Given the description of an element on the screen output the (x, y) to click on. 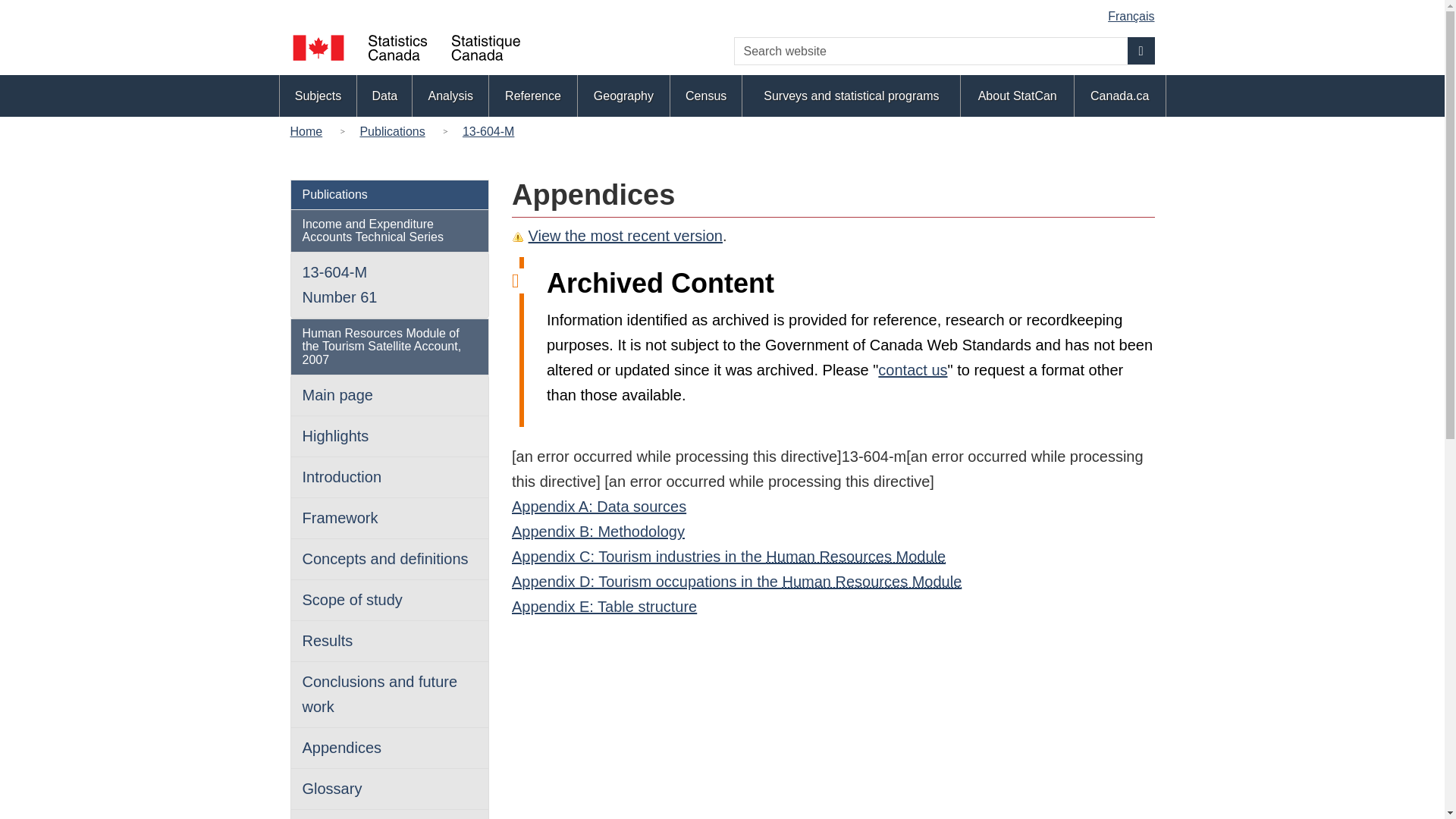
Search (1140, 50)
Reference (532, 96)
First page of the publications module (392, 131)
Publications (392, 131)
Surveys and statistical programs (850, 96)
Appendix A: Data sources (598, 506)
About StatCan (1017, 96)
Data (384, 96)
Canada.ca (1120, 96)
Conclusions and future work (379, 693)
Framework (339, 517)
Concepts and definitions (384, 558)
Online catalogue: 13-604-M (339, 284)
Highlights (334, 435)
Publications (333, 194)
